Given the description of an element on the screen output the (x, y) to click on. 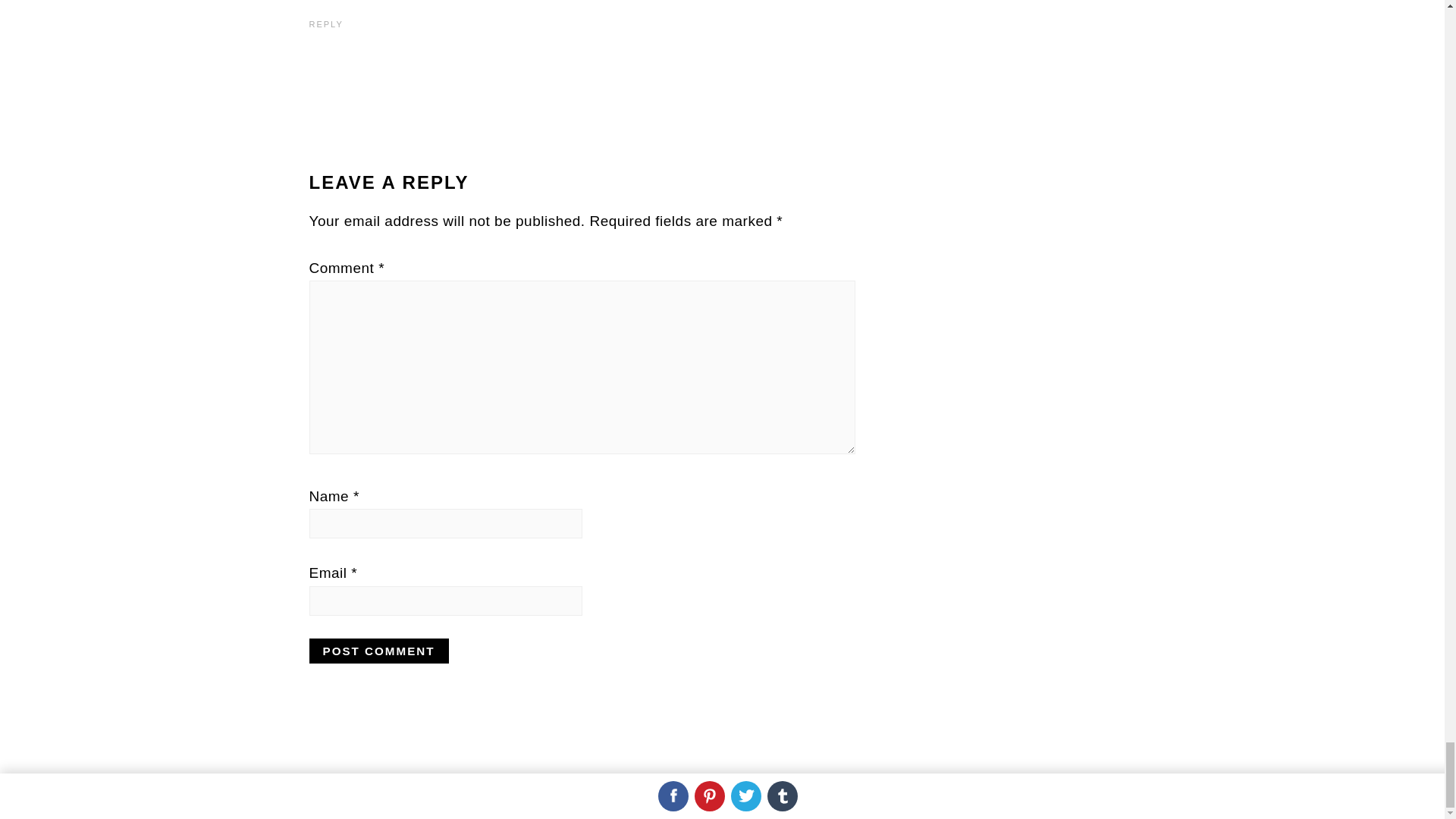
Post Comment (378, 650)
